Given the description of an element on the screen output the (x, y) to click on. 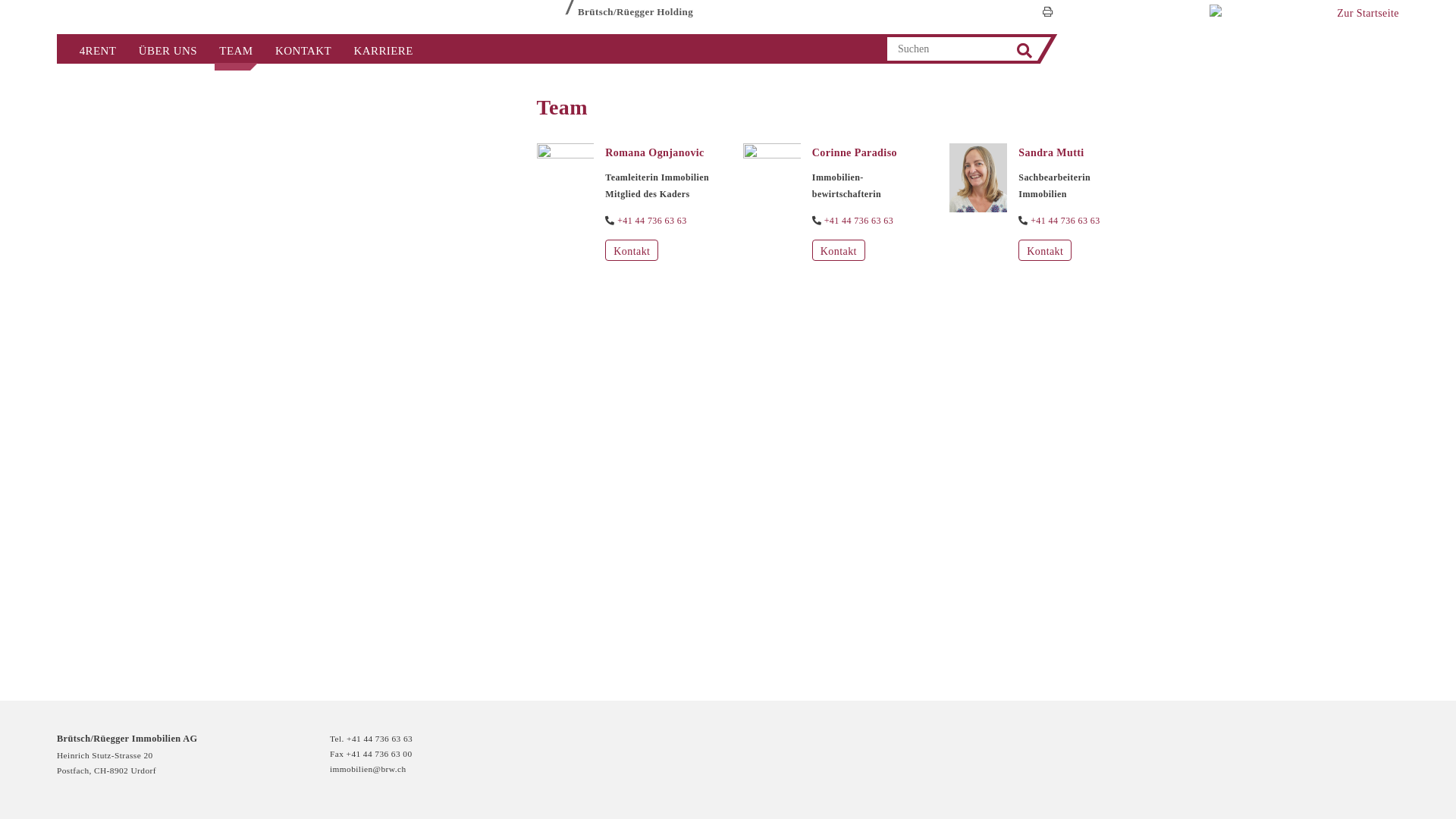
+41 44 736 63 63 Element type: text (652, 221)
TEAM Element type: text (236, 48)
4RENT Element type: text (97, 48)
KARRIERE Element type: text (383, 48)
Kontakt Element type: text (838, 249)
Search Element type: text (1024, 51)
KONTAKT Element type: text (302, 48)
+41 44 736 63 63 Element type: text (859, 221)
Kontakt Element type: text (631, 249)
+41 44 736 63 63 Element type: text (1065, 221)
immobilien@brw.ch Element type: text (367, 768)
Kontakt Element type: text (1044, 249)
